Given the description of an element on the screen output the (x, y) to click on. 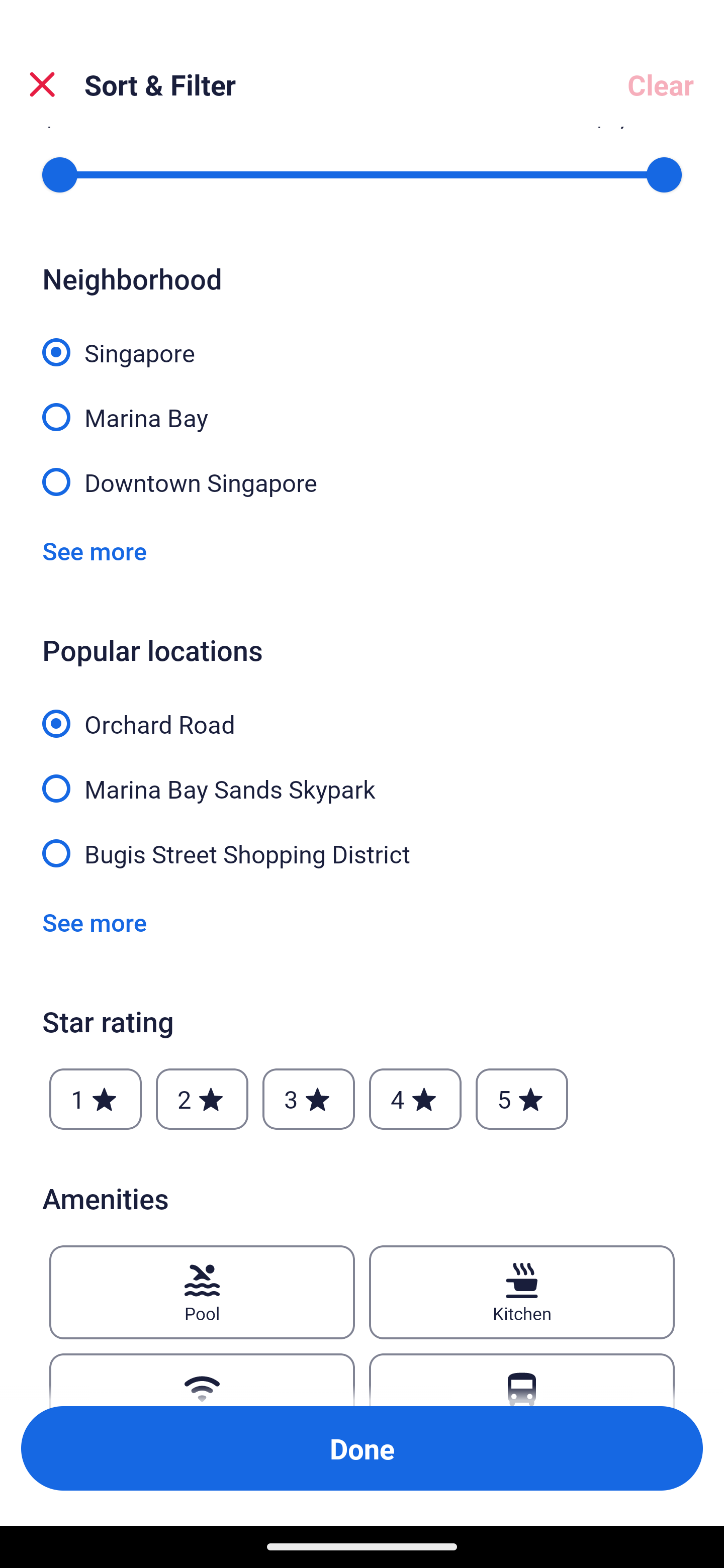
Close Sort and Filter (42, 84)
Clear (660, 84)
Marina Bay (361, 406)
Downtown Singapore (361, 481)
See more See more neighborhoods Link (93, 550)
Marina Bay Sands Skypark (361, 777)
Bugis Street Shopping District (361, 852)
See more See more popular locations Link (93, 921)
1 (95, 1098)
2 (201, 1098)
3 (308, 1098)
4 (415, 1098)
5 (521, 1098)
Pool (201, 1291)
Kitchen (521, 1291)
Apply and close Sort and Filter Done (361, 1448)
